Given the description of an element on the screen output the (x, y) to click on. 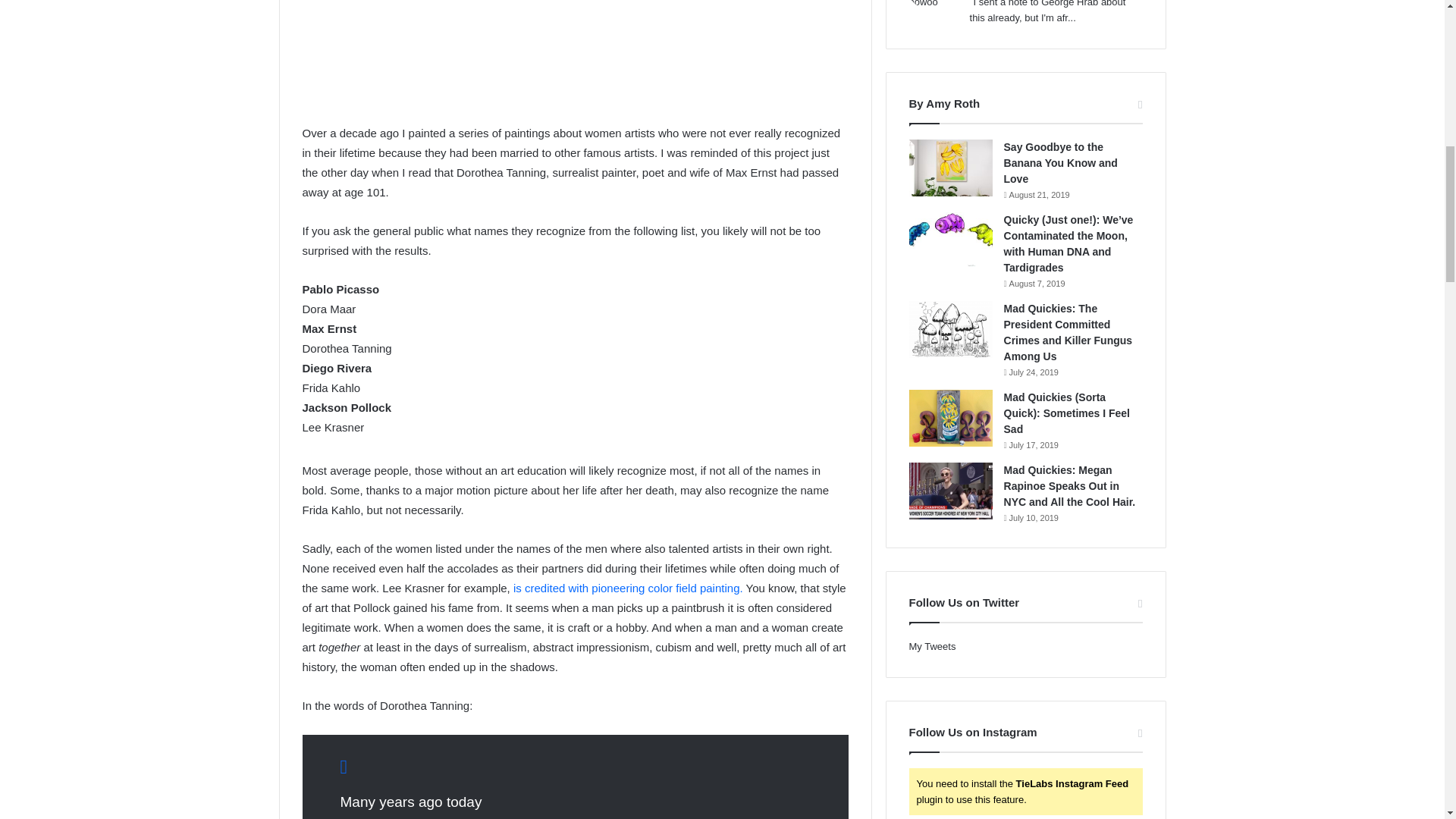
is credited with pioneering color field painting. (627, 587)
